Given the description of an element on the screen output the (x, y) to click on. 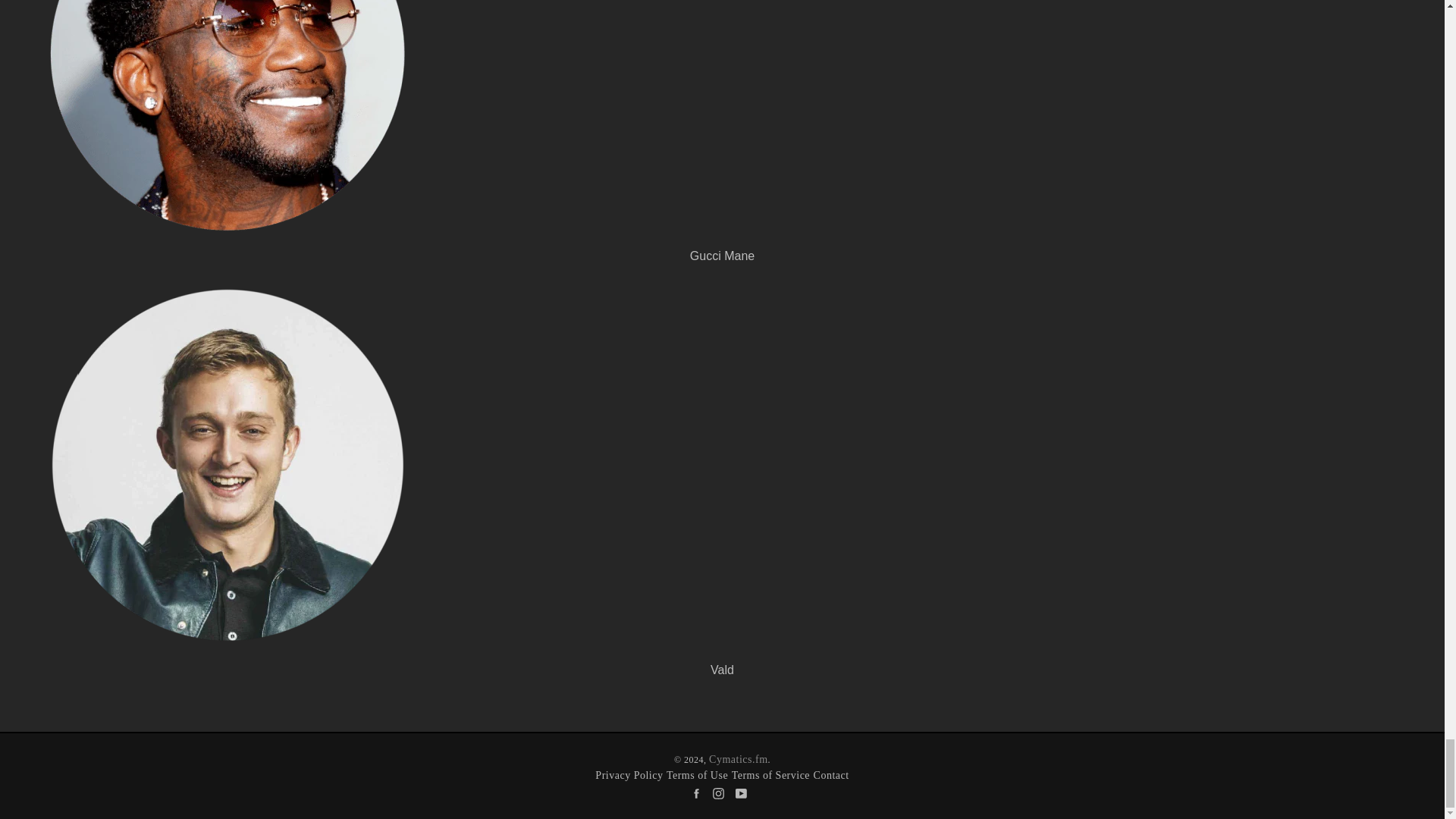
Terms of Service (770, 775)
Facebook (699, 791)
YouTube (744, 791)
Privacy Policy (628, 775)
Cymatics.fm (738, 758)
Contact (830, 775)
Cymatics.fm on Facebook (699, 791)
Cymatics.fm on Instagram (722, 791)
Instagram (722, 791)
Cymatics.fm on YouTube (744, 791)
Terms of Use (697, 775)
